Given the description of an element on the screen output the (x, y) to click on. 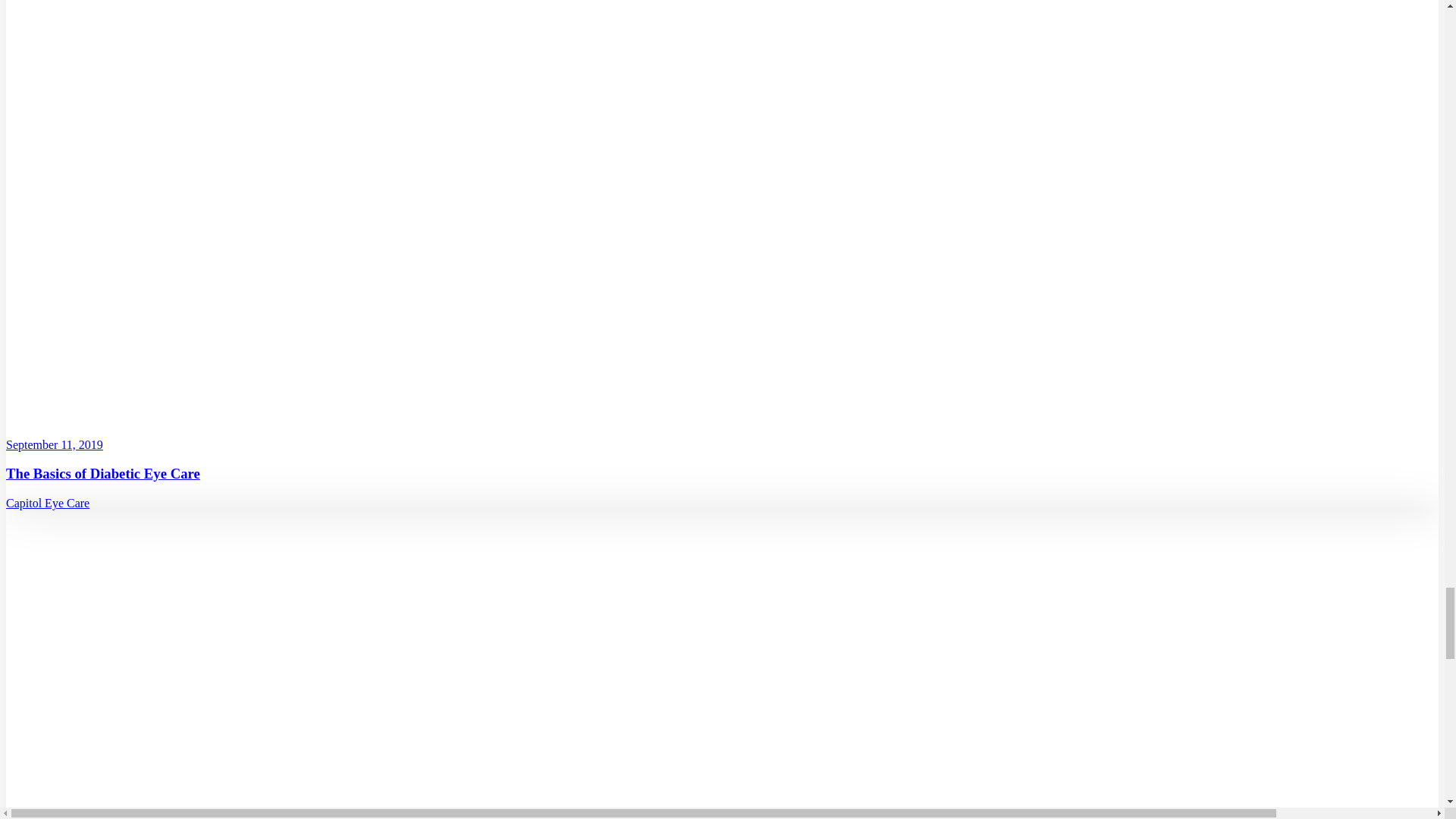
Posts by Capitol Eye Care (46, 502)
